Given the description of an element on the screen output the (x, y) to click on. 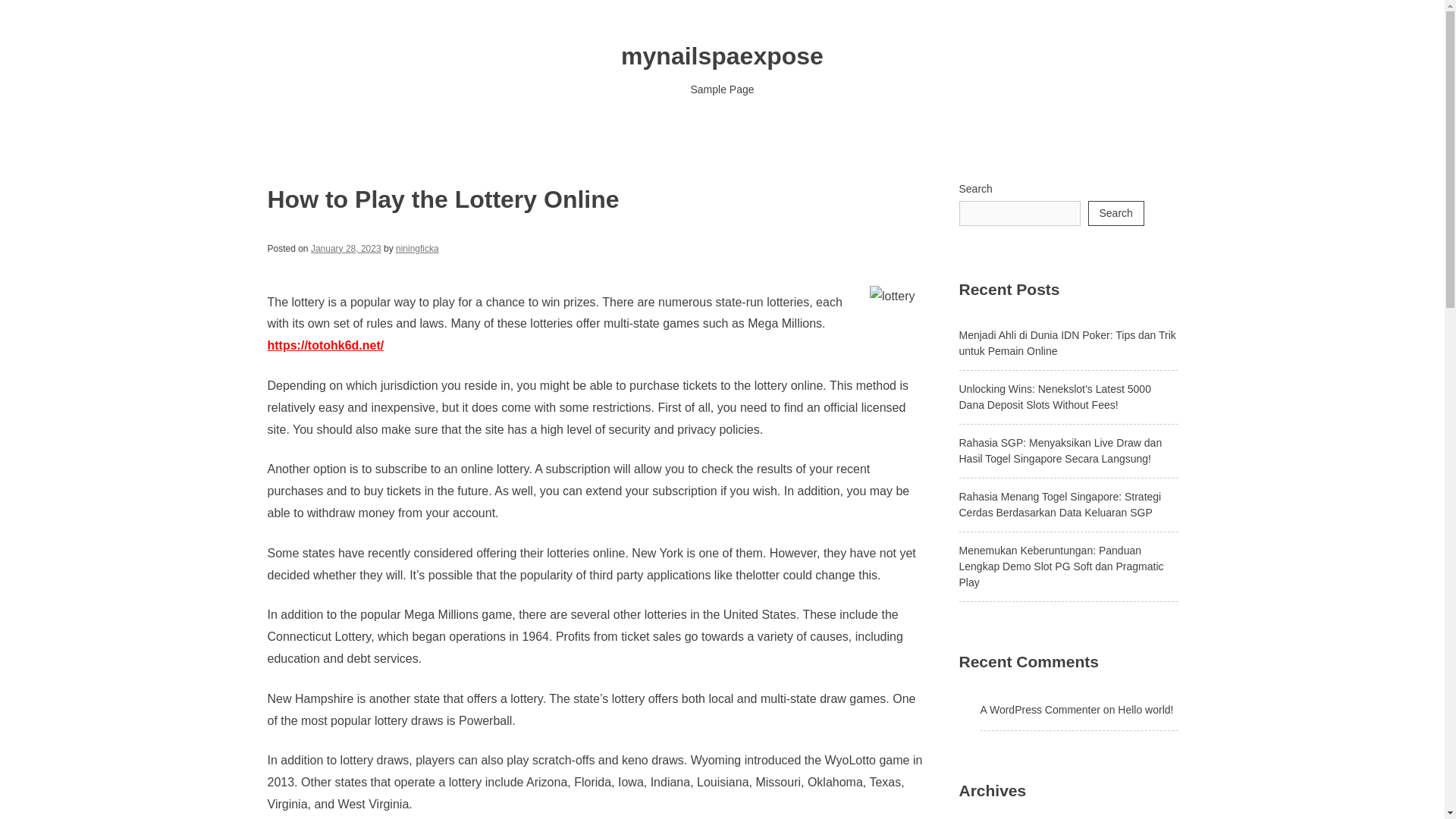
Search (1114, 213)
January 28, 2023 (346, 248)
Sample Page (722, 89)
Hello world! (1145, 709)
mynailspaexpose (722, 55)
A WordPress Commenter (1039, 709)
